Given the description of an element on the screen output the (x, y) to click on. 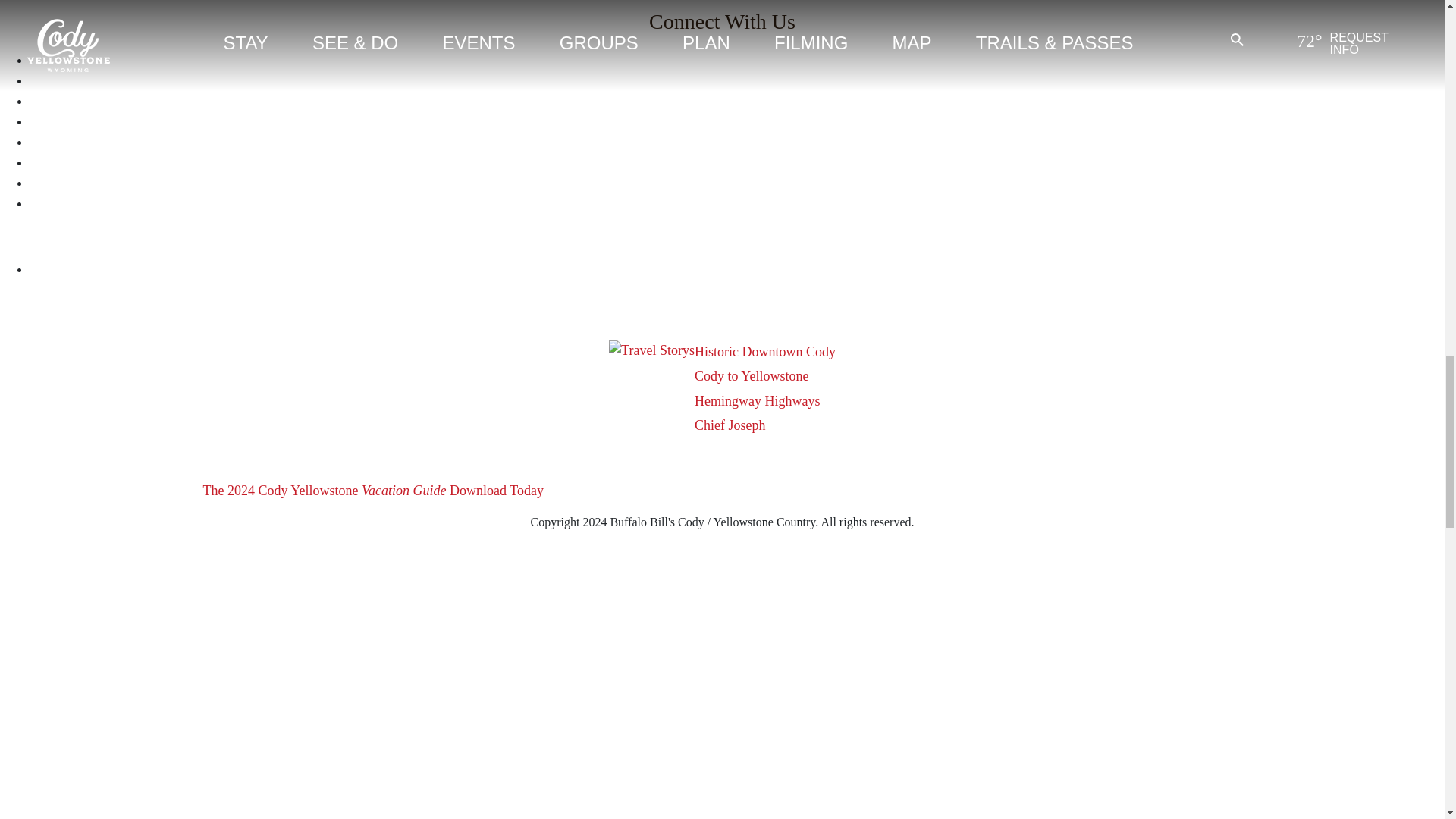
Privacy Policy (347, 4)
Contact Us (422, 4)
Career Opportunities (534, 4)
Press and Media Center (146, 4)
Adventure Log (658, 4)
Media Center (146, 4)
Career Opportunities (534, 4)
Terms and Conditions (48, 4)
Privacy (347, 4)
Terms of Use (48, 4)
Industry Partners (255, 4)
Questions? Contact us! (422, 4)
Industry Partners (255, 4)
